Given the description of an element on the screen output the (x, y) to click on. 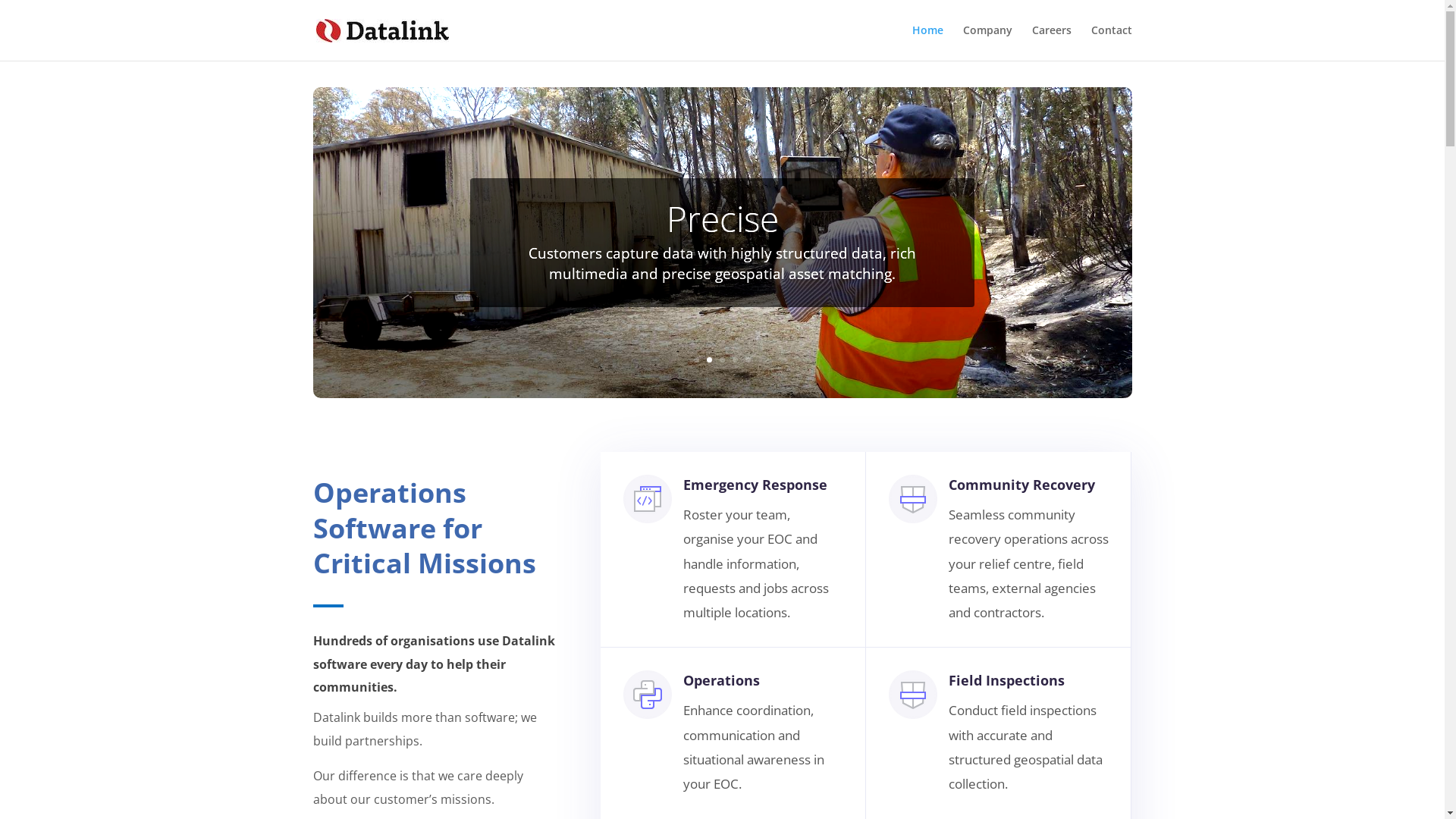
Operations Element type: text (721, 680)
1 Element type: text (696, 359)
Community Recovery Element type: text (1021, 484)
5 Element type: text (747, 359)
4 Element type: text (734, 359)
Emergency Response Element type: text (755, 484)
2 Element type: text (709, 359)
Home Element type: text (926, 42)
Contact Element type: text (1110, 42)
3 Element type: text (721, 359)
Company Element type: text (987, 42)
Field Inspections Element type: text (1006, 680)
Careers Element type: text (1050, 42)
